Given the description of an element on the screen output the (x, y) to click on. 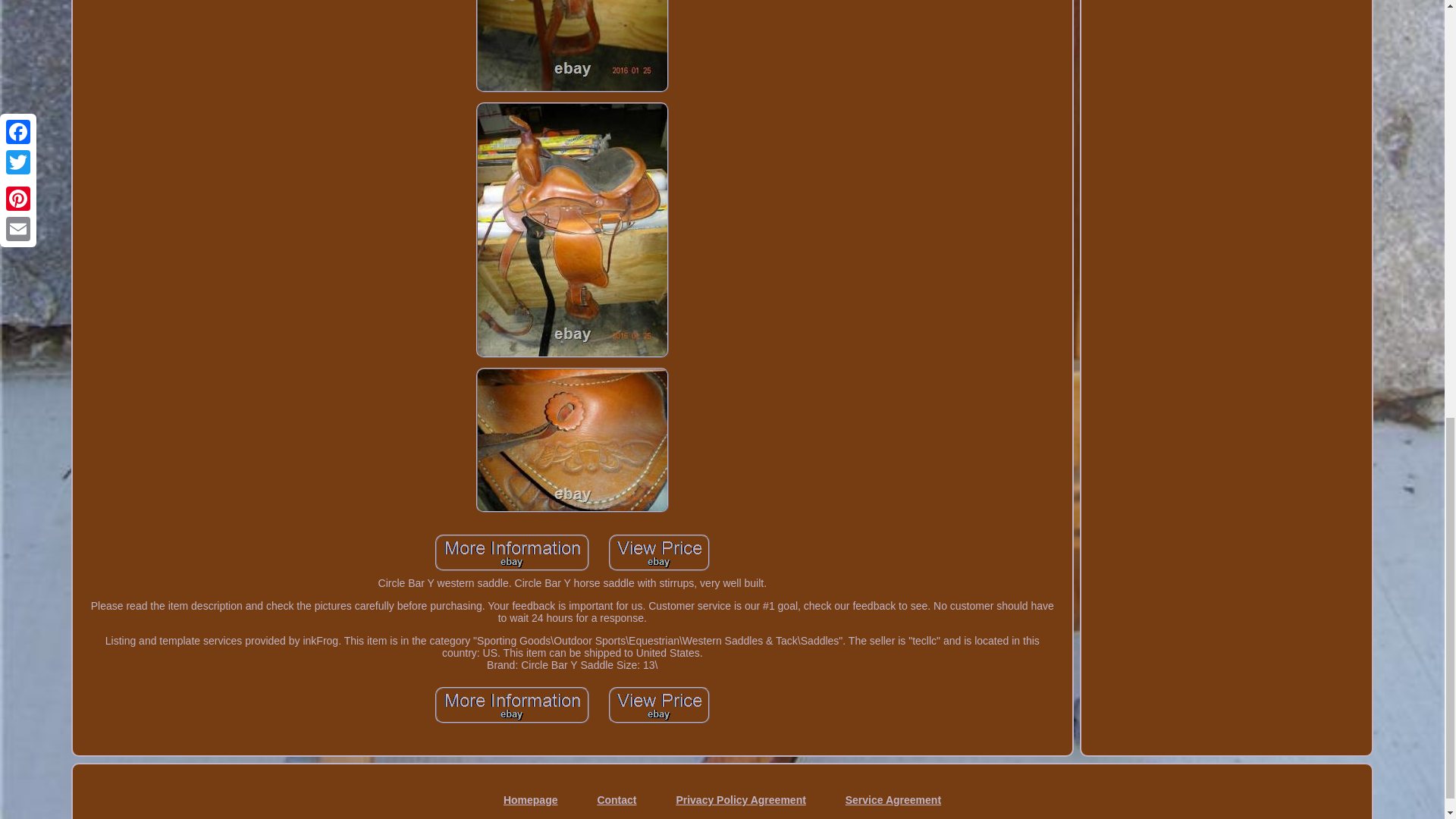
Circle Bar Y western saddle (659, 552)
Circle Bar Y western saddle (512, 705)
Circle Bar Y western saddle (659, 705)
Circle Bar Y western saddle (572, 46)
Circle Bar Y western saddle (572, 439)
Circle Bar Y western saddle (512, 552)
